Given the description of an element on the screen output the (x, y) to click on. 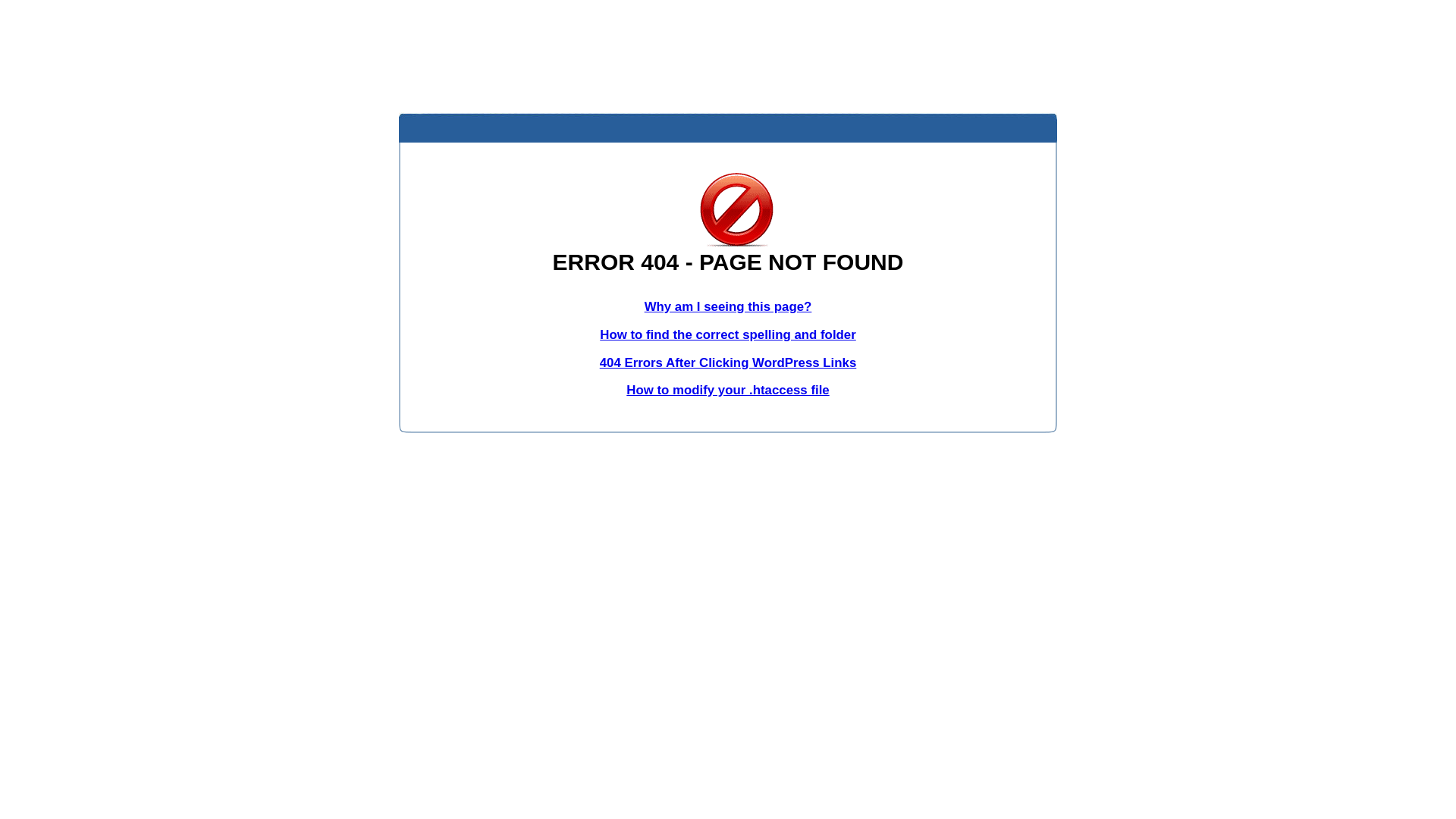
How to modify your .htaccess file Element type: text (727, 389)
404 Errors After Clicking WordPress Links Element type: text (727, 362)
Why am I seeing this page? Element type: text (728, 306)
How to find the correct spelling and folder Element type: text (727, 334)
